Given the description of an element on the screen output the (x, y) to click on. 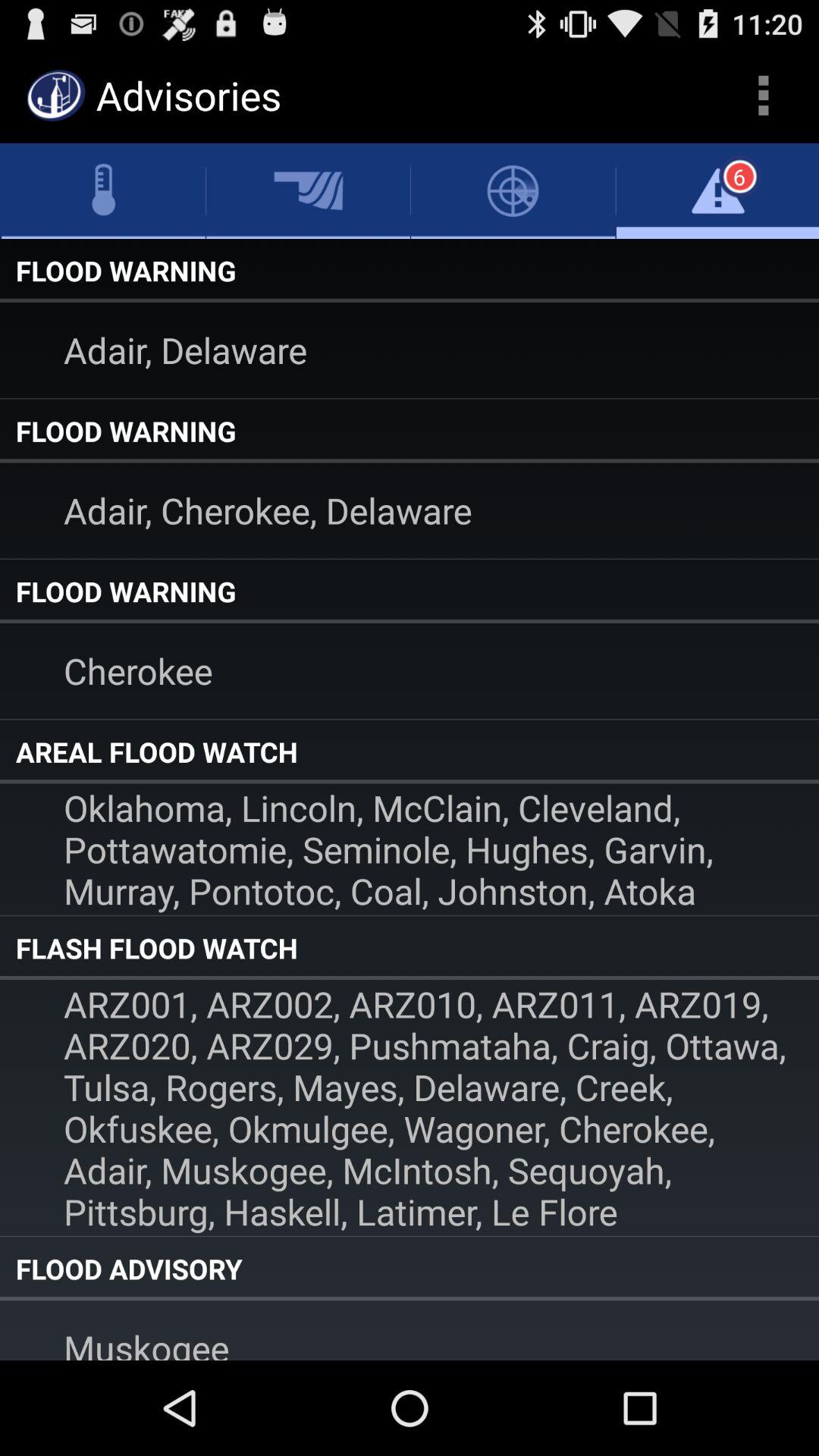
launch the icon below cherokee (409, 751)
